Given the description of an element on the screen output the (x, y) to click on. 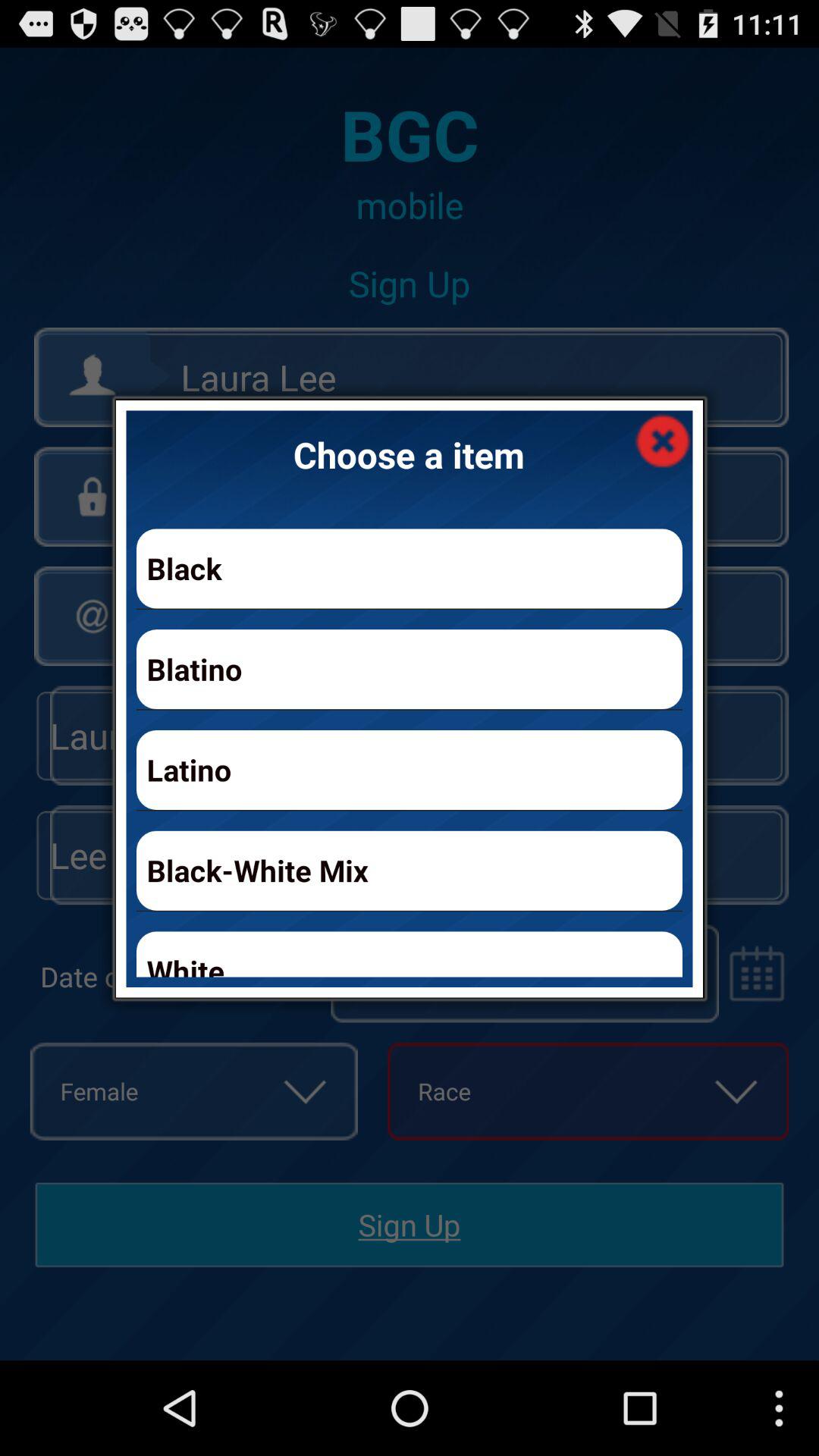
turn on icon above the black-white mix item (409, 769)
